Given the description of an element on the screen output the (x, y) to click on. 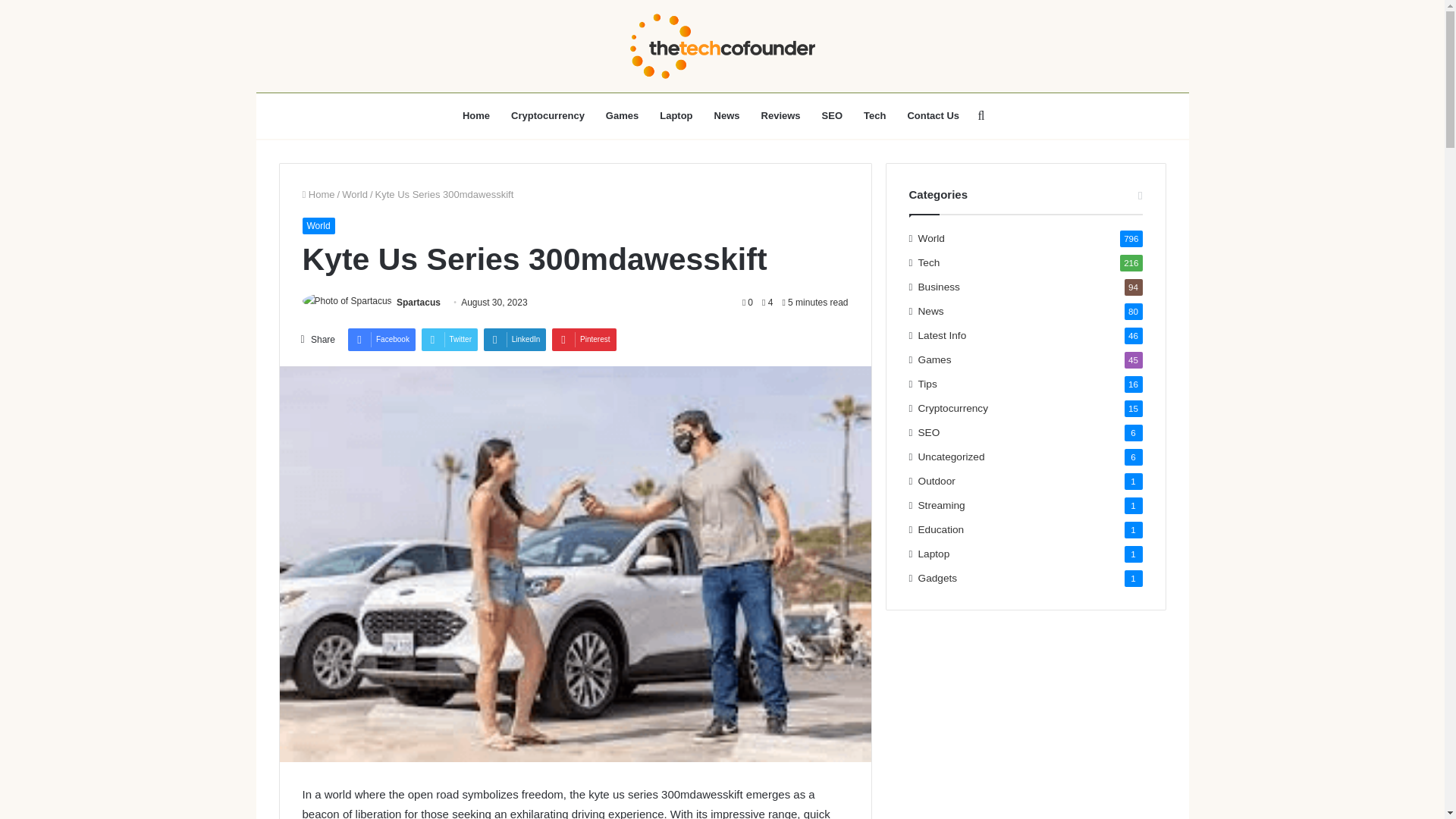
Twitter (449, 339)
Pinterest (583, 339)
LinkedIn (515, 339)
Laptop (676, 115)
Tech Cofounder (722, 46)
Contact Us (932, 115)
Home (475, 115)
Pinterest (583, 339)
SEO (831, 115)
Facebook (380, 339)
